Given the description of an element on the screen output the (x, y) to click on. 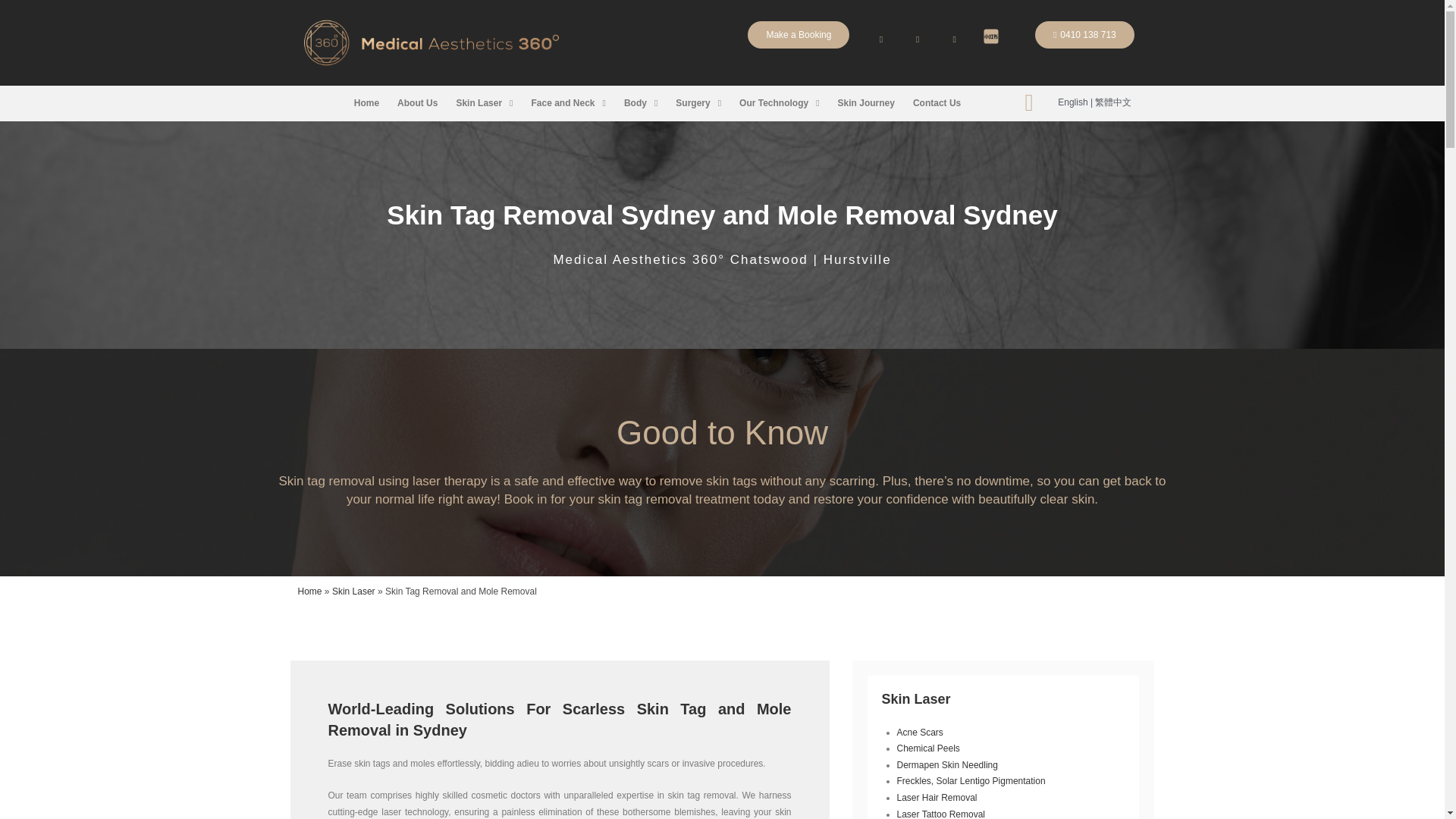
Skin Laser (483, 102)
About Us (417, 102)
Home (309, 591)
0410 138 713 (1084, 34)
Home (366, 102)
Skin Laser (353, 591)
Make a Booking (798, 34)
Face and Neck (567, 102)
